Given the description of an element on the screen output the (x, y) to click on. 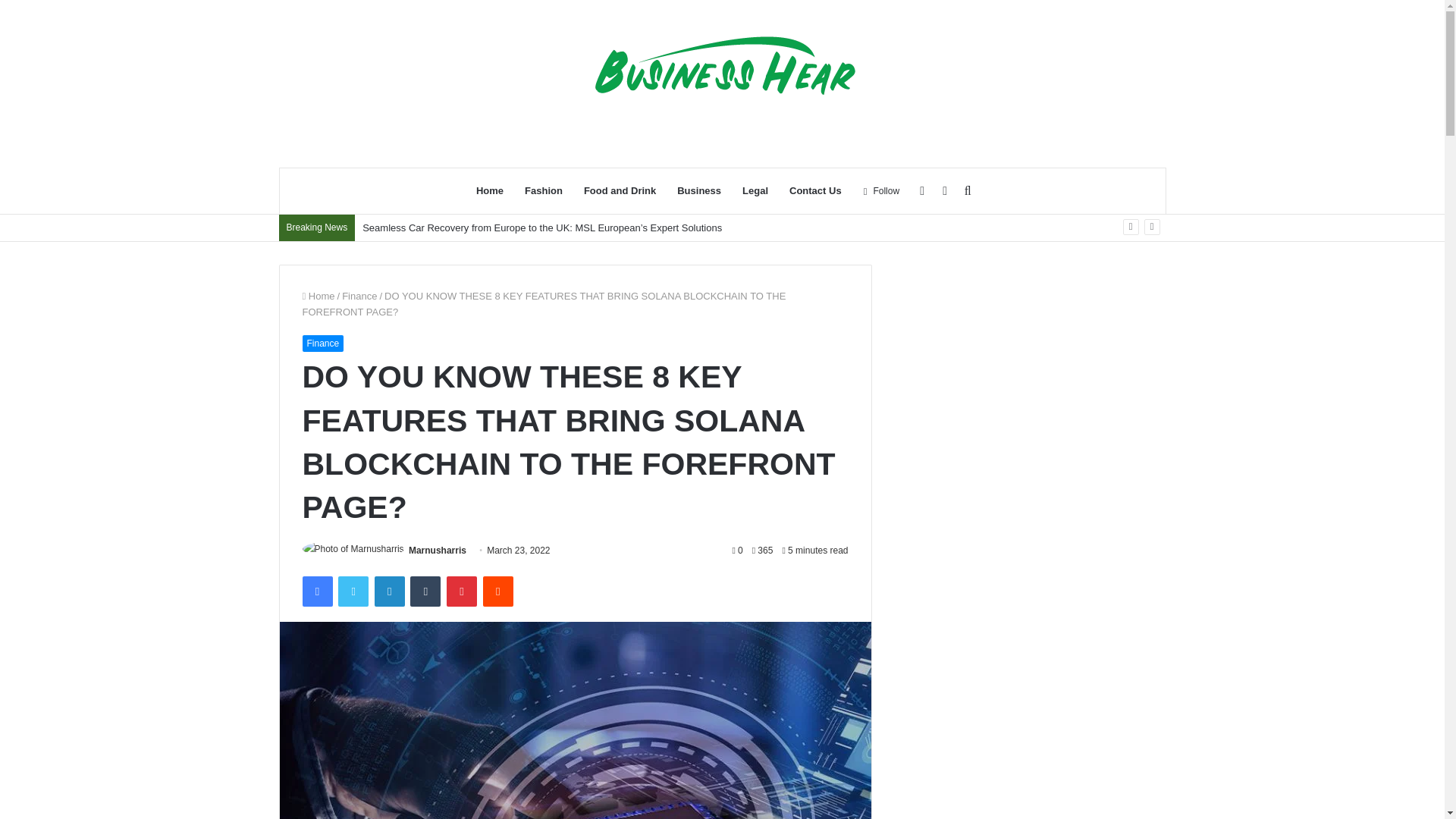
Contact Us (814, 190)
Home (317, 296)
Twitter (352, 591)
LinkedIn (389, 591)
Reddit (498, 591)
Business (699, 190)
Legal (755, 190)
Food and Drink (619, 190)
Pinterest (461, 591)
Twitter (352, 591)
